Given the description of an element on the screen output the (x, y) to click on. 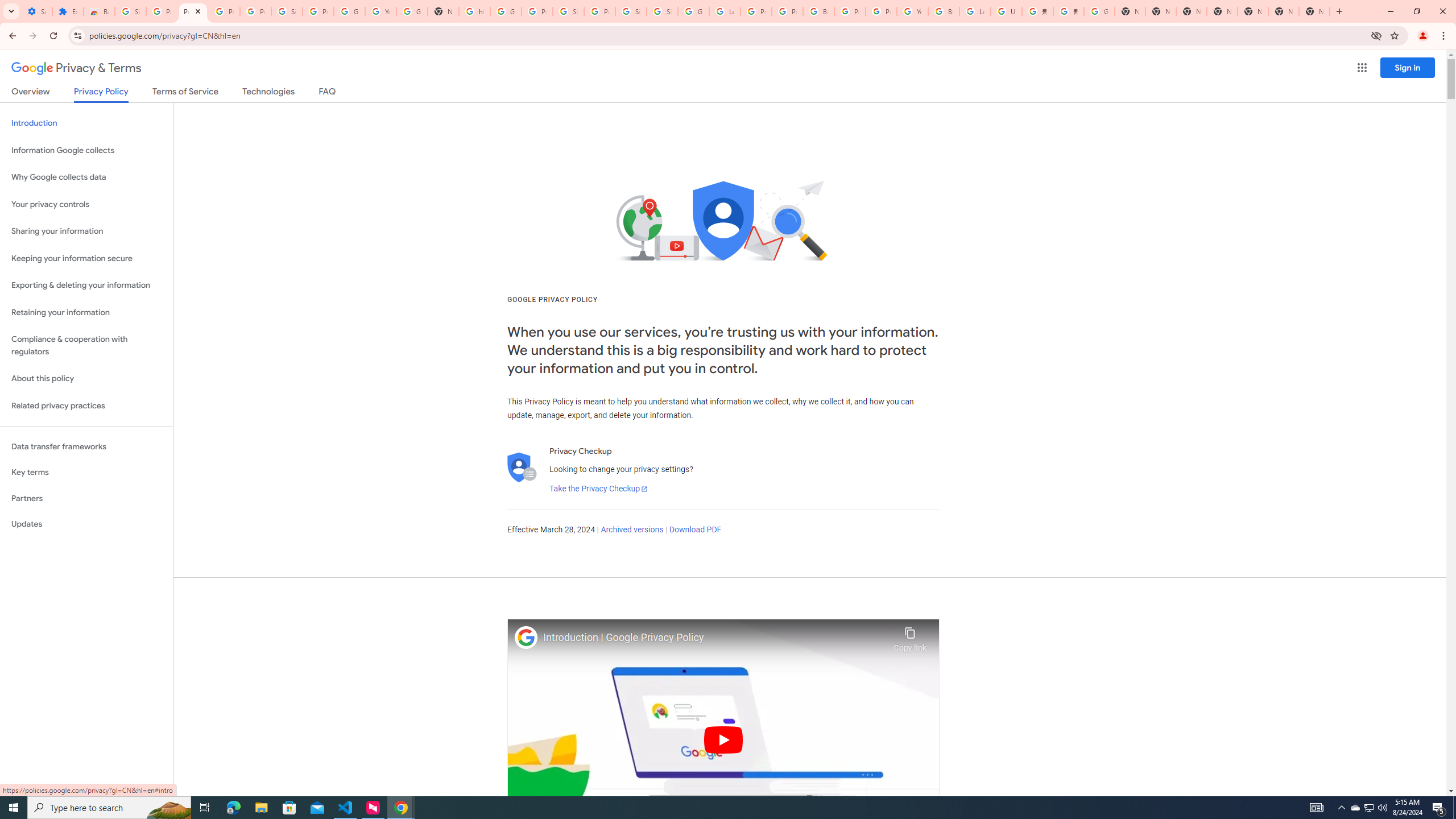
YouTube (912, 11)
FAQ (327, 93)
Extensions (67, 11)
Updates (86, 524)
Introduction | Google Privacy Policy (715, 637)
Play (723, 739)
Sign in - Google Accounts (568, 11)
Sharing your information (86, 230)
Your privacy controls (86, 204)
